Given the description of an element on the screen output the (x, y) to click on. 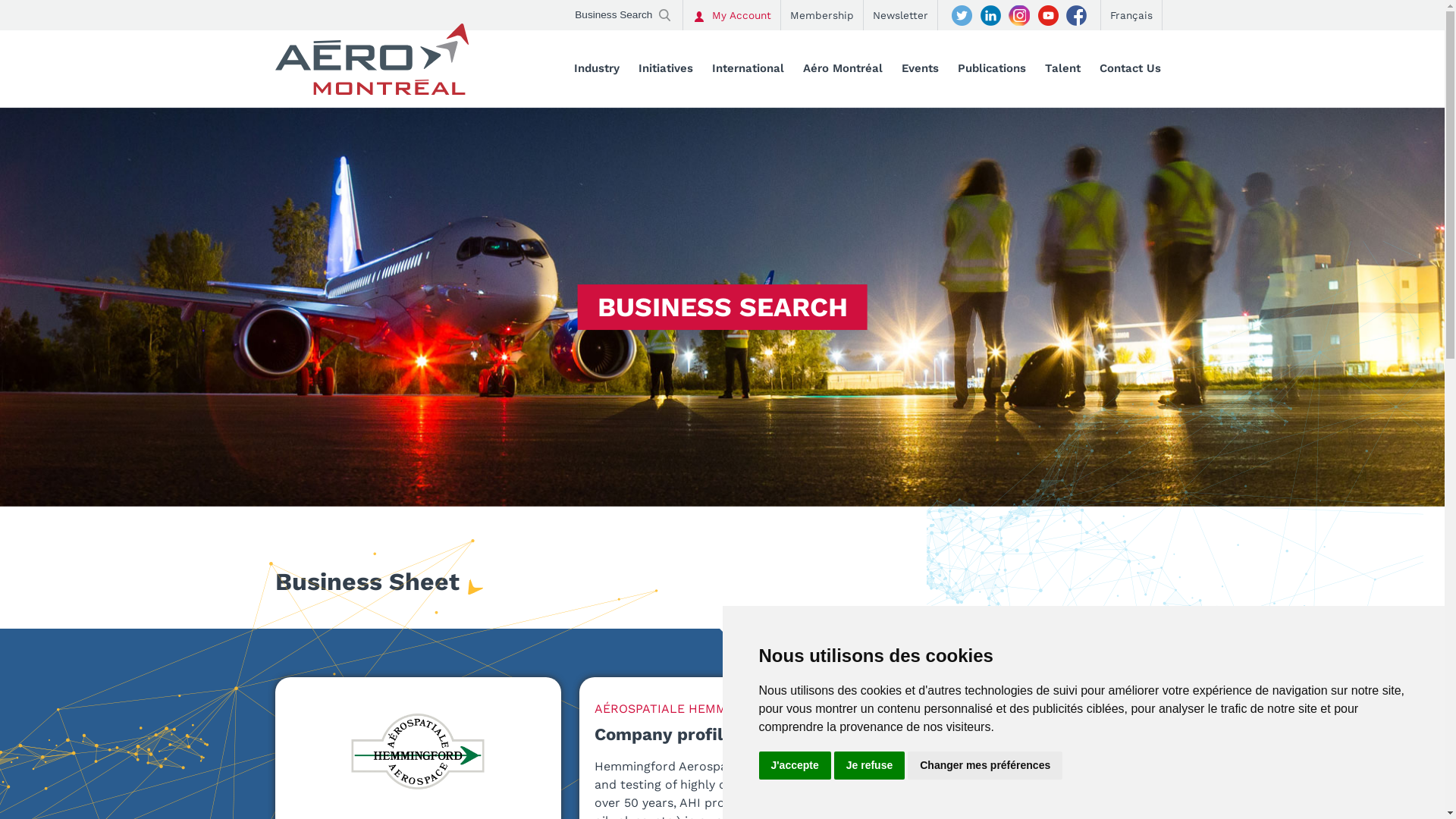
Membership Element type: text (821, 15)
Facebook Element type: text (1075, 15)
Twitter Element type: text (960, 15)
International Element type: text (747, 69)
J'accepte Element type: text (794, 765)
Initiatives Element type: text (665, 69)
Youtube Element type: text (1046, 15)
Instagram Element type: text (1018, 15)
Talent Element type: text (1062, 69)
Events Element type: text (919, 69)
Linkedin Element type: text (989, 15)
Je refuse Element type: text (869, 765)
My Account Element type: text (730, 15)
Publications Element type: text (990, 69)
Industry Element type: text (595, 69)
Newsletter Element type: text (899, 15)
Contact Us Element type: text (1130, 69)
